Given the description of an element on the screen output the (x, y) to click on. 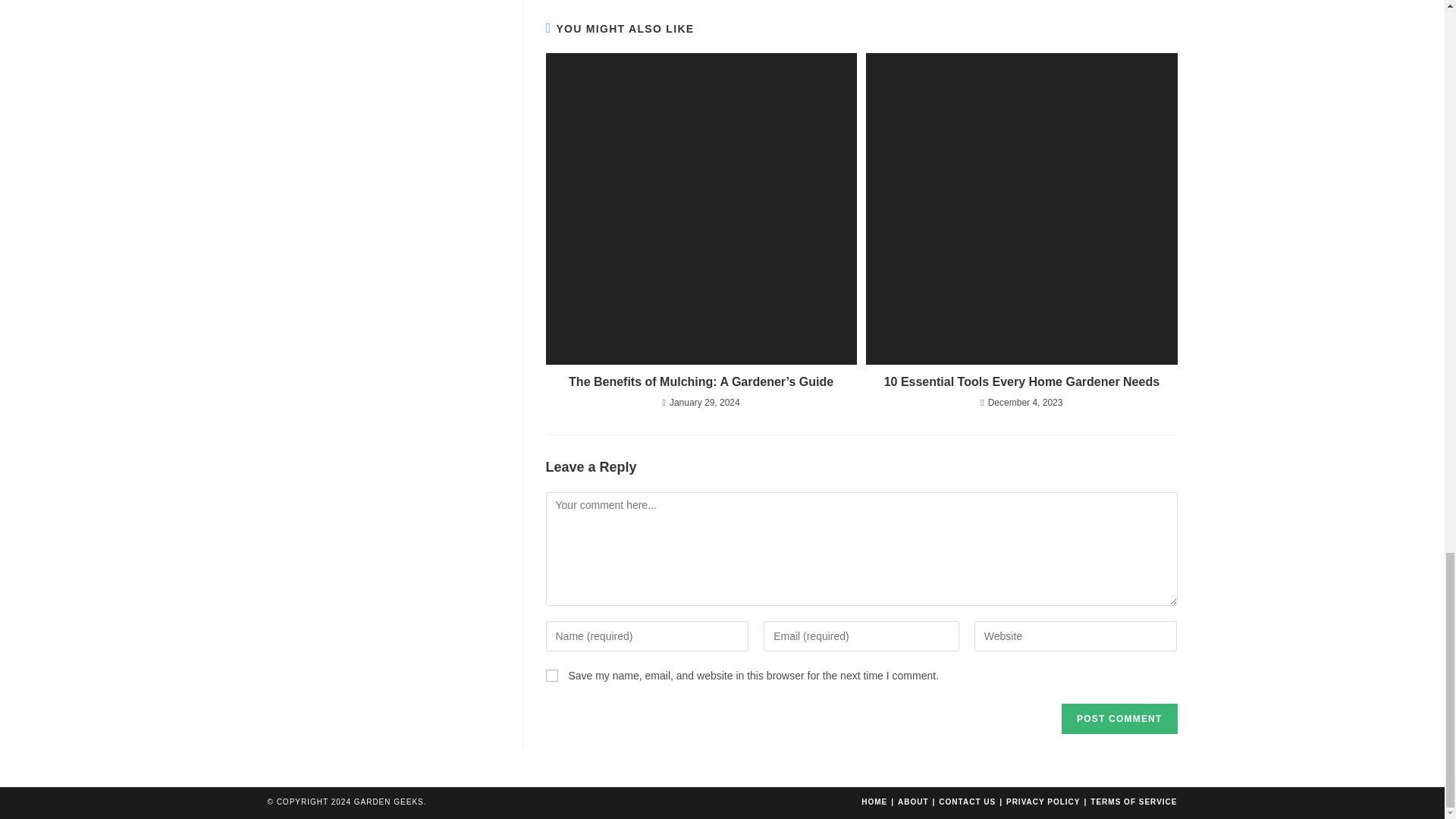
10 Essential Tools Every Home Gardener Needs (1021, 381)
Post Comment (1118, 718)
yes (551, 675)
Post Comment (1118, 718)
